Given the description of an element on the screen output the (x, y) to click on. 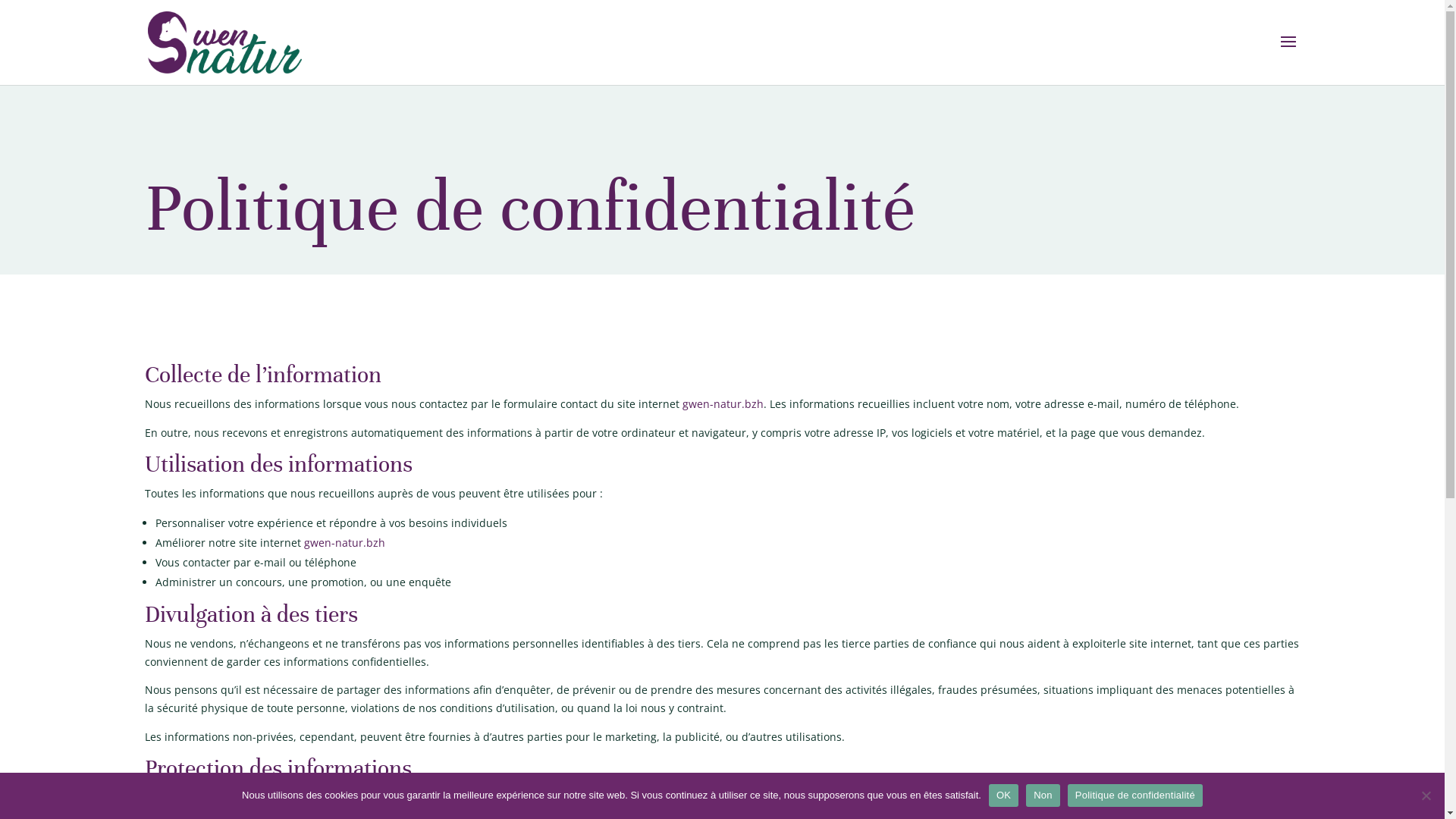
OK Element type: text (1003, 795)
Non Element type: hover (1425, 795)
gwen-natur.bzh Element type: text (343, 542)
gwen-natur.bzh Element type: text (722, 403)
Non Element type: text (1043, 795)
